Given the description of an element on the screen output the (x, y) to click on. 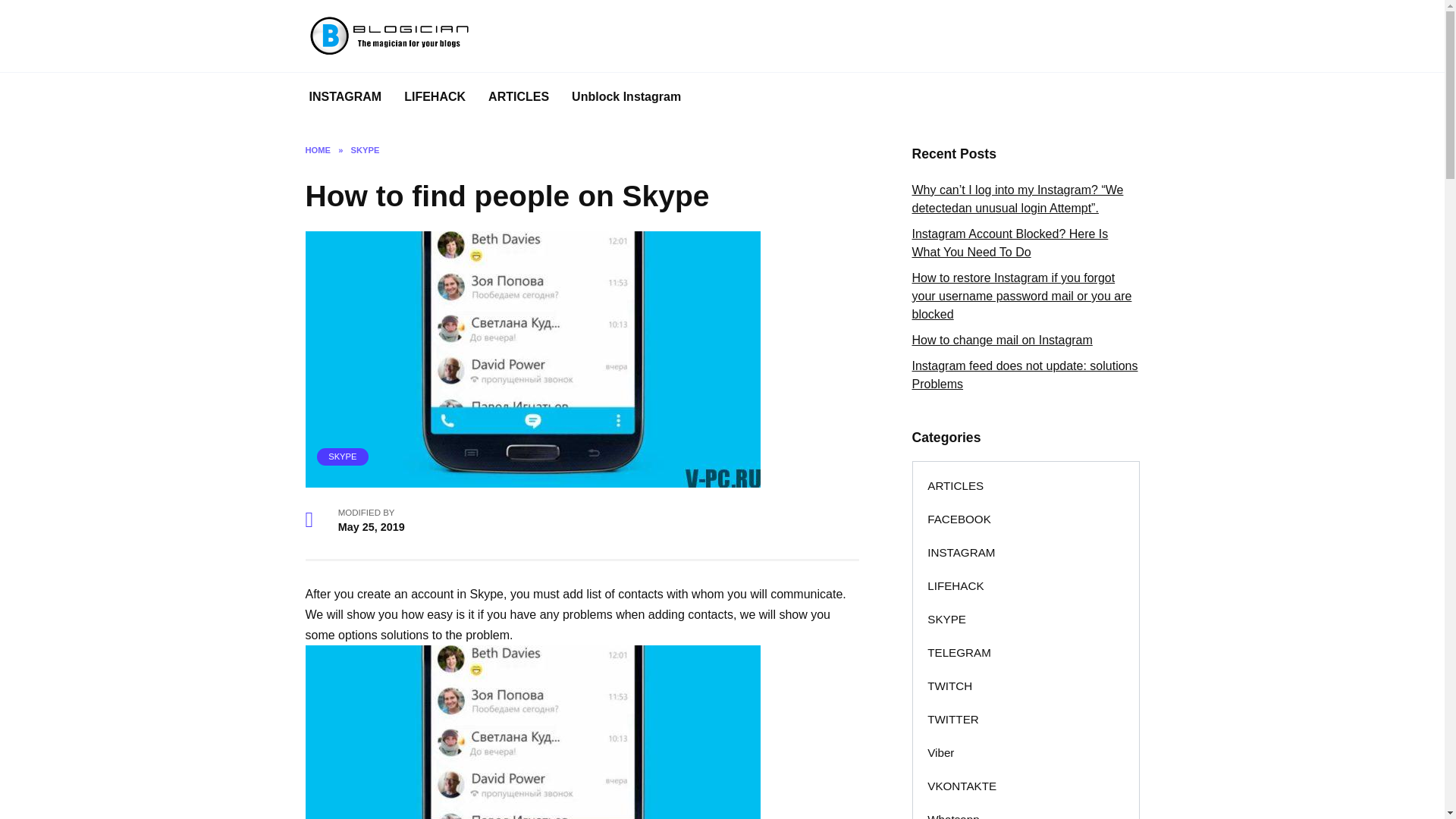
How to change mail on Instagram (1001, 339)
TWITTER (953, 719)
FACEBOOK (959, 519)
LIFEHACK (435, 96)
Viber (940, 752)
TWITCH (950, 685)
LIFEHACK (955, 585)
Instagram Account Blocked? Here Is What You Need To Do (1009, 242)
ARTICLES (518, 96)
